Given the description of an element on the screen output the (x, y) to click on. 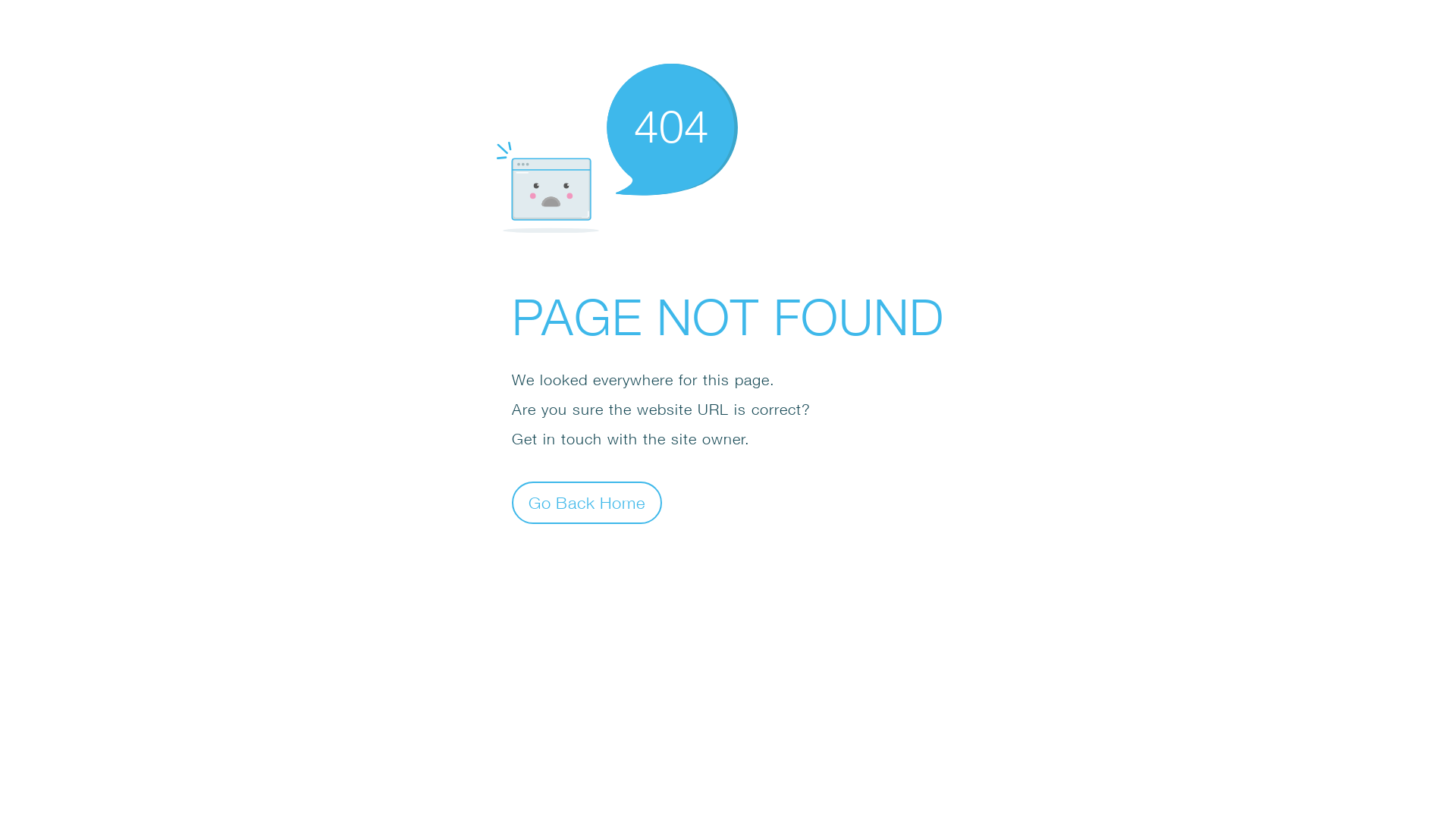
Go Back Home Element type: text (586, 502)
